Given the description of an element on the screen output the (x, y) to click on. 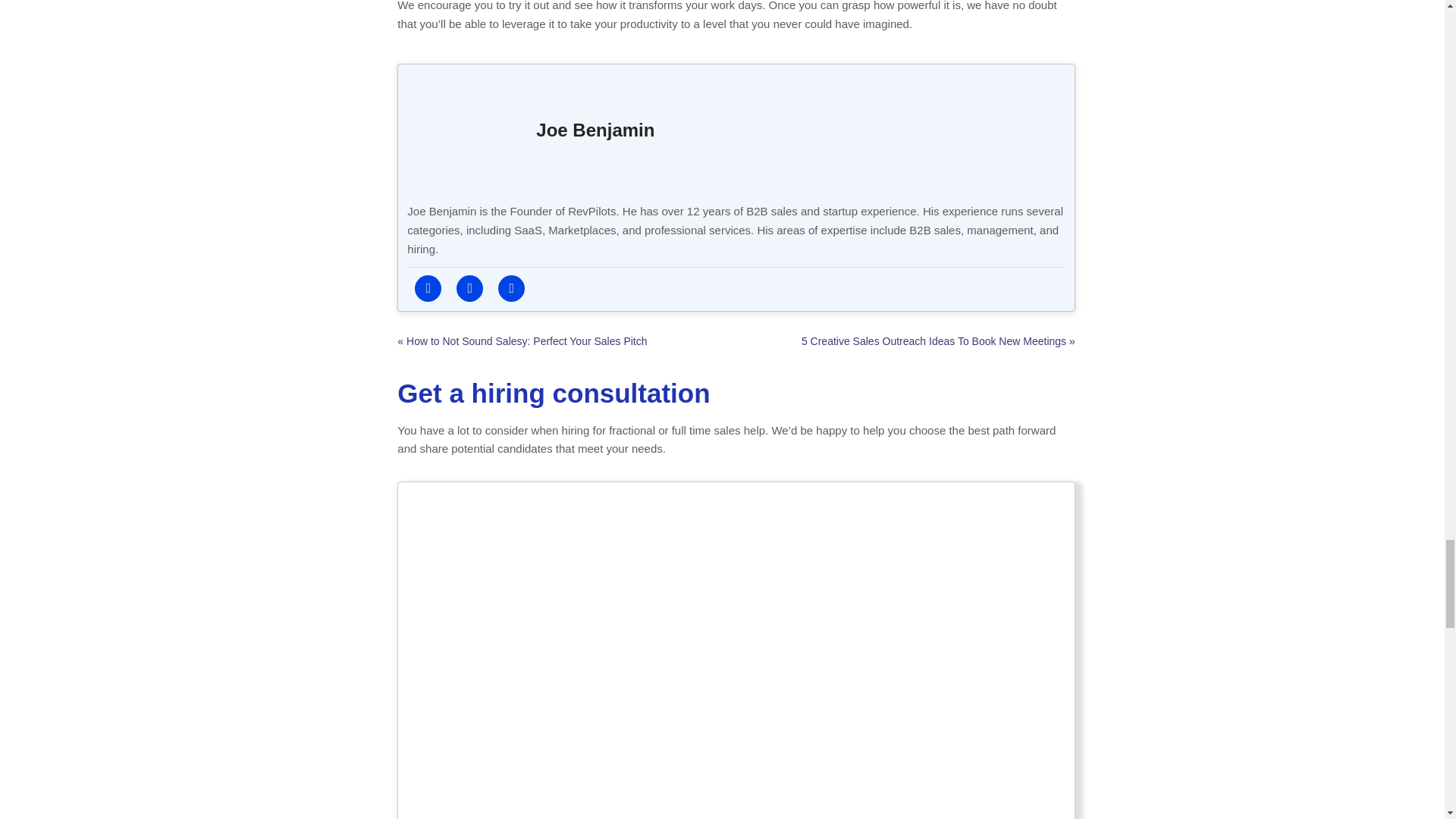
Follow us on LinkedIn! (470, 288)
Follow us on YouTube! (510, 288)
Follow us on Twitter! (427, 288)
